Given the description of an element on the screen output the (x, y) to click on. 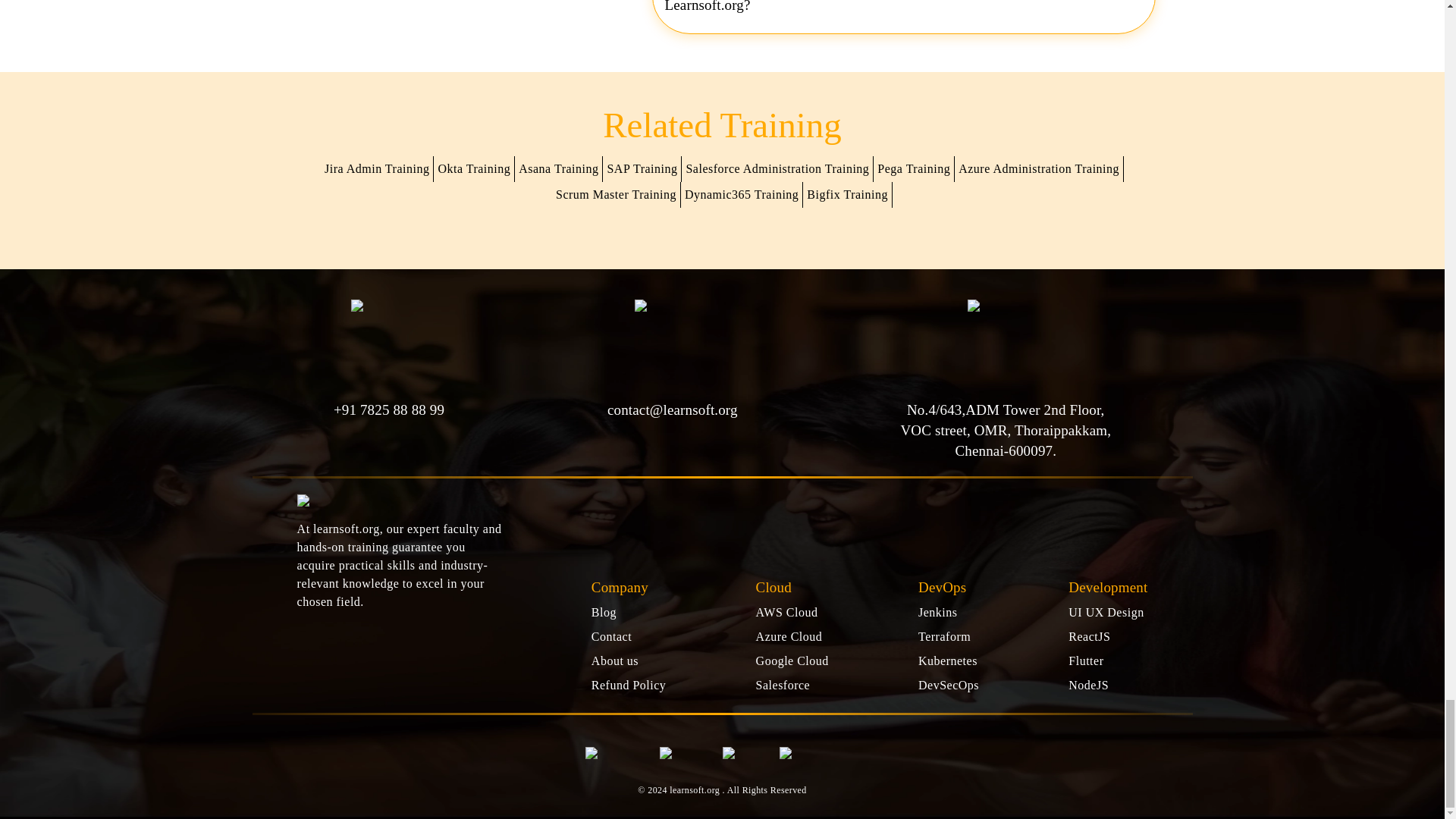
About us (615, 660)
Blog (603, 612)
Asana Training (558, 168)
Jira Admin Training (376, 168)
Salesforce (782, 684)
Google Cloud (791, 660)
Refund Policy (628, 684)
Azure Administration Training (1039, 168)
Terraform (944, 635)
Bigfix Training (847, 194)
Jenkins (938, 612)
Pega Training (914, 168)
Dynamic365 Training (742, 194)
Contact (611, 635)
Okta Training (474, 168)
